Given the description of an element on the screen output the (x, y) to click on. 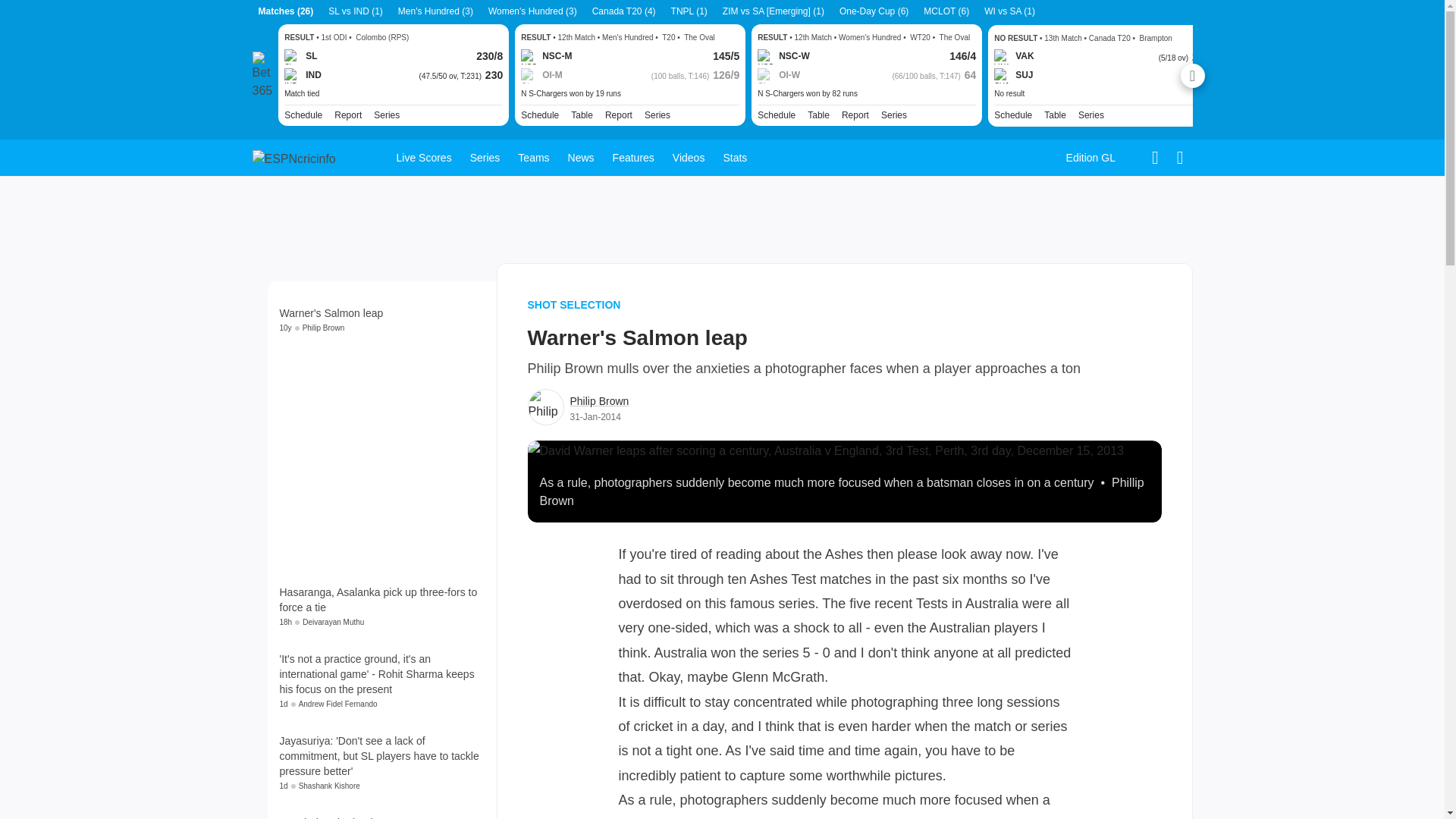
Table (581, 115)
Schedule (775, 115)
Table (1054, 114)
Report (618, 115)
Report (855, 115)
OI-M (541, 75)
The Hundred Women's Competition (893, 115)
Series (893, 115)
Schedule (302, 115)
Report (618, 115)
NSC-M (546, 55)
Table (818, 115)
SL (300, 55)
N S-Chargers won by 19 runs (630, 93)
Report (855, 115)
